Given the description of an element on the screen output the (x, y) to click on. 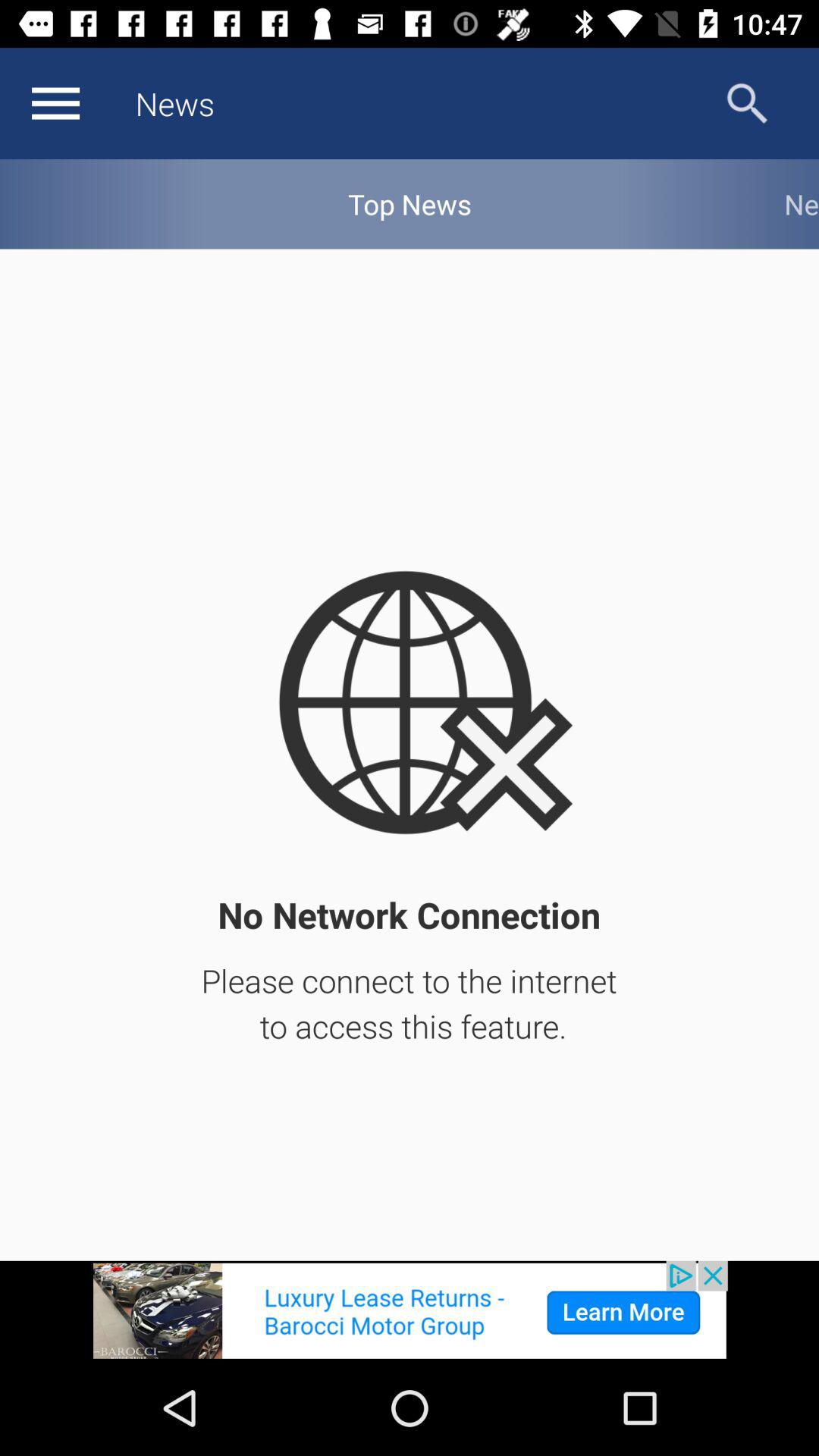
go to search (747, 103)
